Given the description of an element on the screen output the (x, y) to click on. 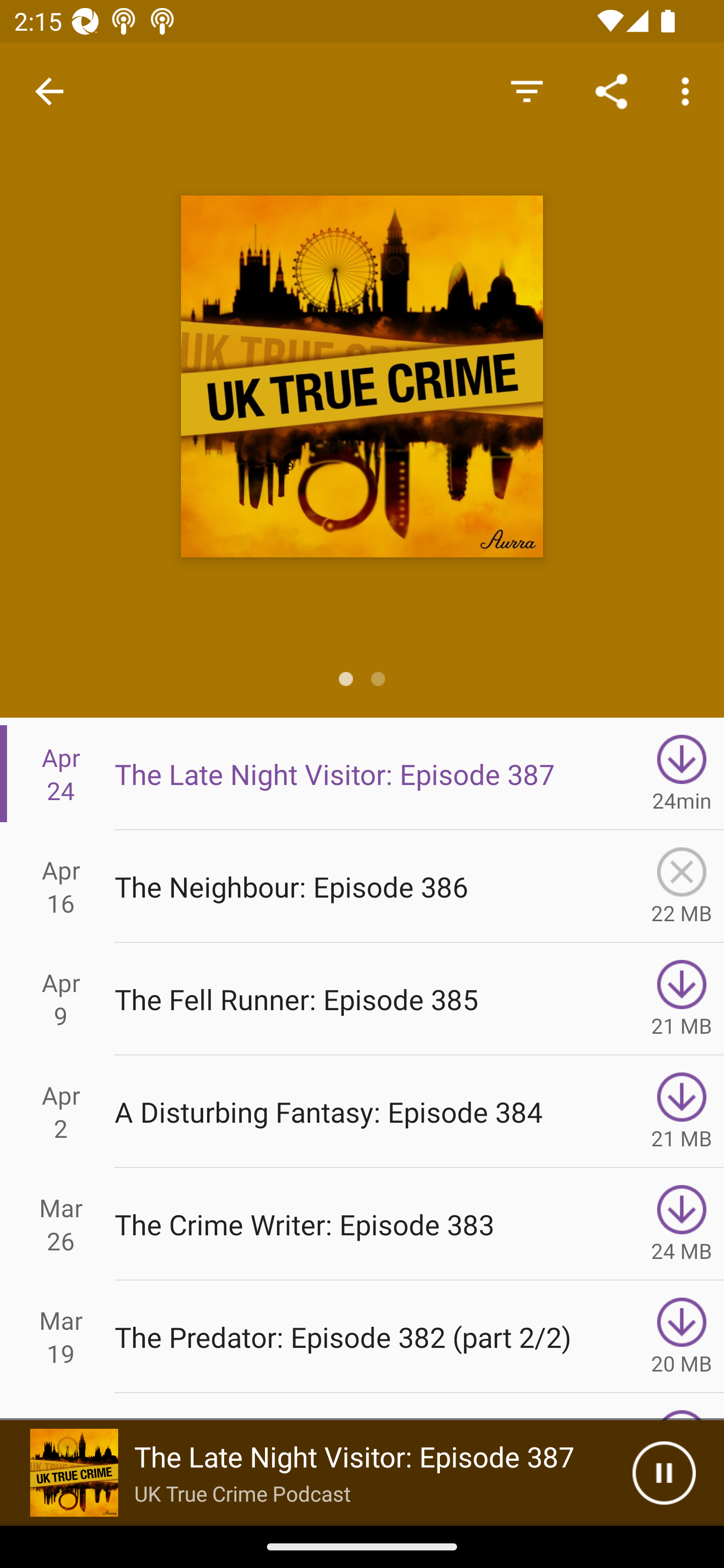
Navigate up (49, 91)
Hide Episodes (526, 90)
Share Link (611, 90)
More options (688, 90)
Download 24min (681, 773)
Cancel
Download 22 MB (681, 885)
Apr 9 The Fell Runner: Episode 385 Download 21 MB (362, 998)
Download 21 MB (681, 998)
Download 21 MB (681, 1111)
Download 24 MB (681, 1224)
Download 20 MB (681, 1336)
Pause (663, 1472)
